Given the description of an element on the screen output the (x, y) to click on. 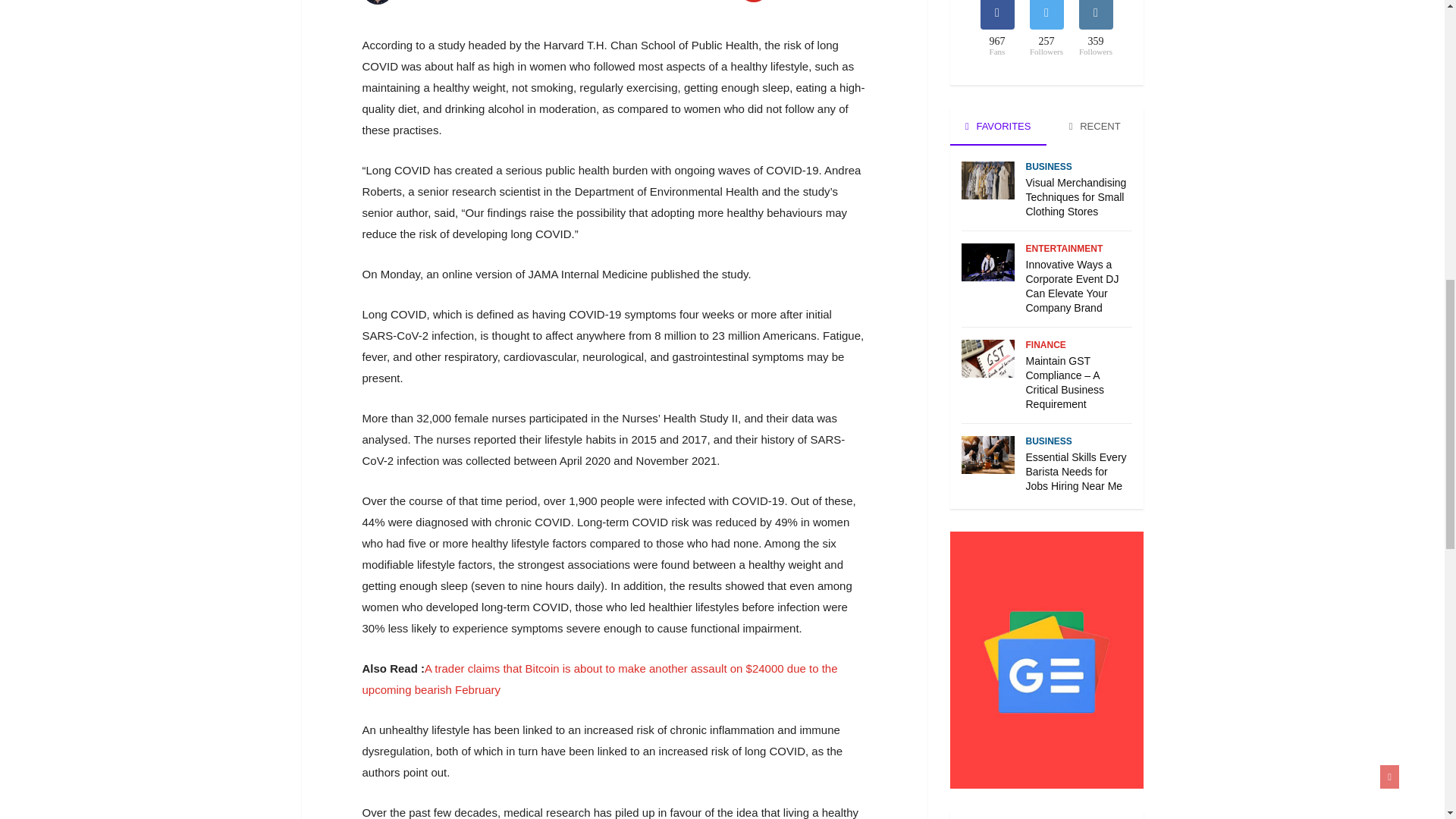
FAVORITES (997, 126)
